Given the description of an element on the screen output the (x, y) to click on. 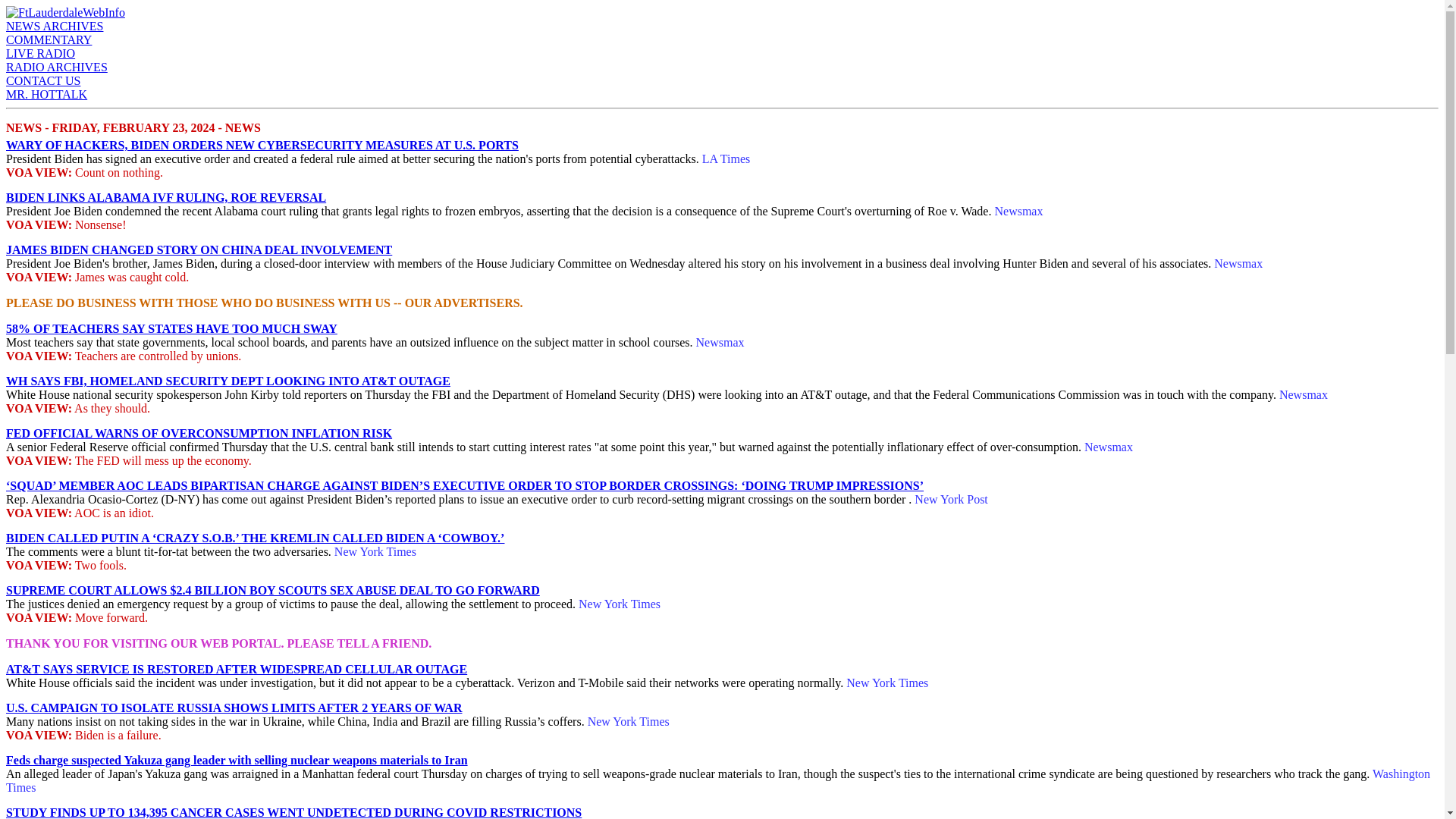
FED OFFICIAL WARNS OF OVERCONSUMPTION INFLATION RISK (198, 432)
BIDEN LINKS ALABAMA IVF RULING, ROE REVERSAL (165, 196)
JAMES BIDEN CHANGED STORY ON CHINA DEAL INVOLVEMENT (198, 249)
